Given the description of an element on the screen output the (x, y) to click on. 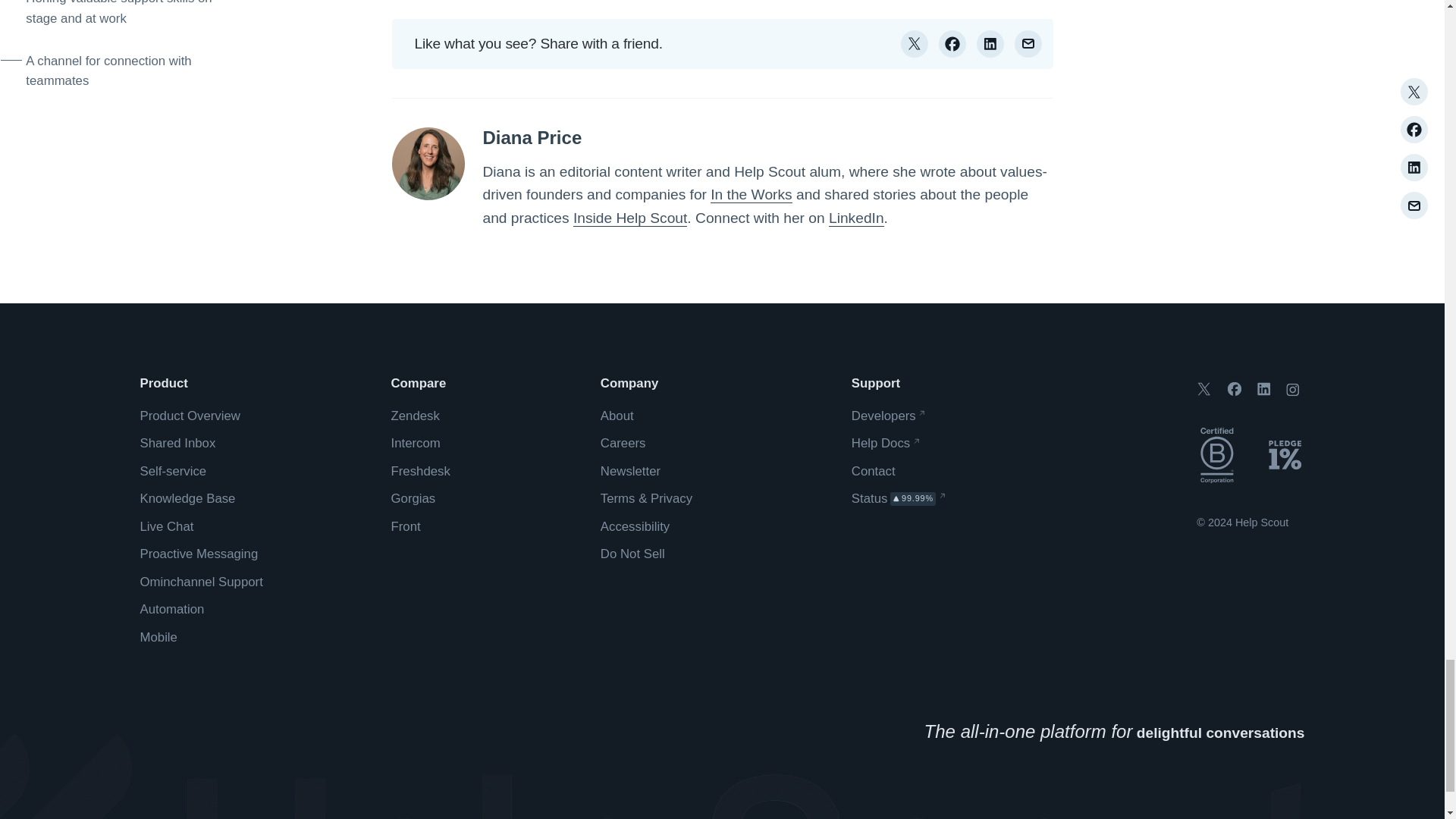
Share via Email (1028, 43)
Follow us on LinkedIn (1263, 388)
Follow us on Facebook (1234, 388)
Share on LinkedIn (990, 43)
Follow us on Instagram (1292, 389)
Share on Facebook (952, 43)
Share on Twitter (914, 43)
